Given the description of an element on the screen output the (x, y) to click on. 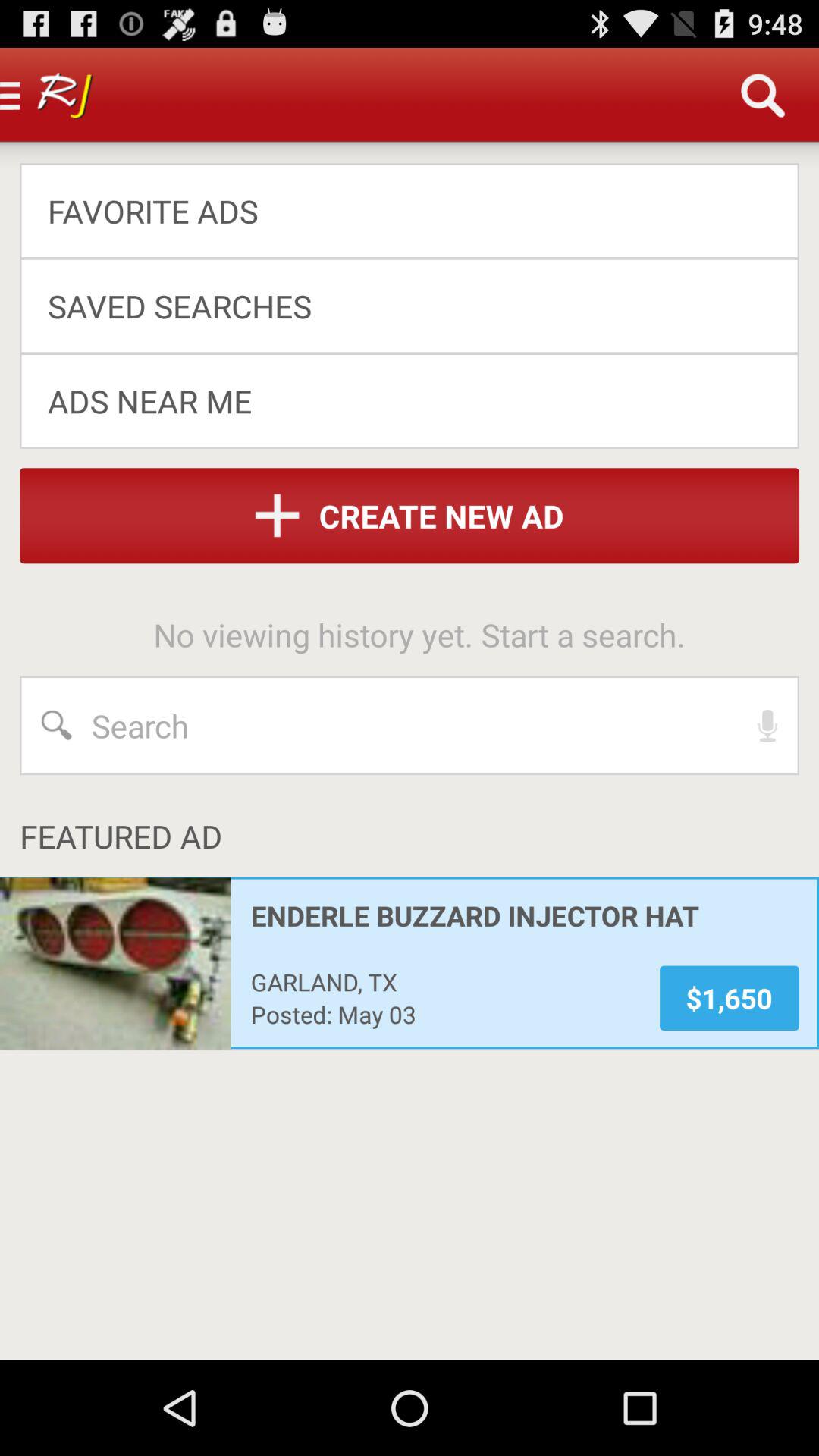
turn off the app below the saved searches app (399, 400)
